Given the description of an element on the screen output the (x, y) to click on. 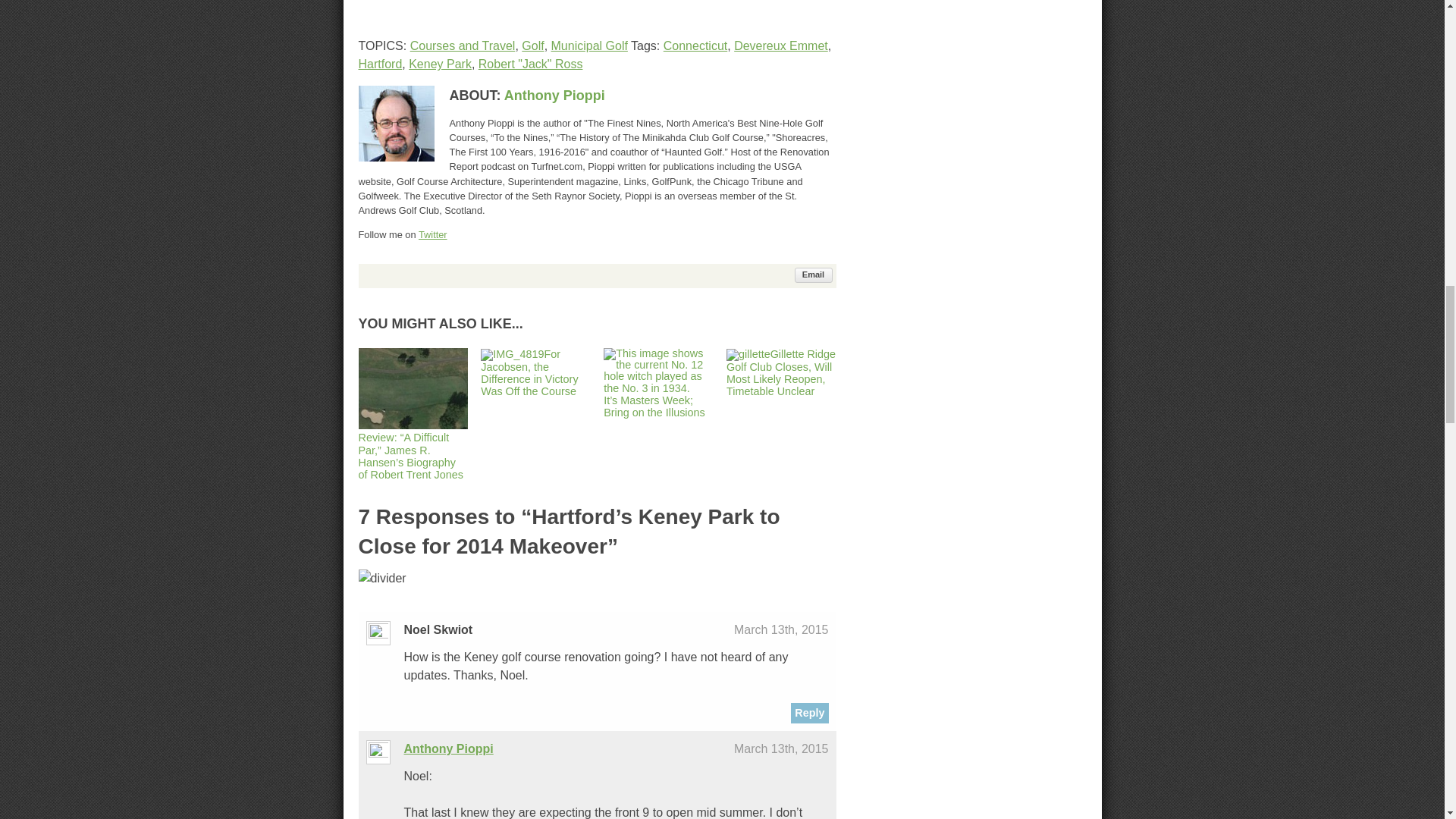
Devereux Emmet (780, 45)
For Jacobsen, the Difference in Victory Was Off the Course (529, 372)
Municipal Golf (589, 45)
Twitter (432, 234)
Anthony Pioppi (554, 95)
Follow Anthony Pioppi on Twitter (432, 234)
Connecticut (695, 45)
Courses and Travel (462, 45)
Email (813, 274)
